Given the description of an element on the screen output the (x, y) to click on. 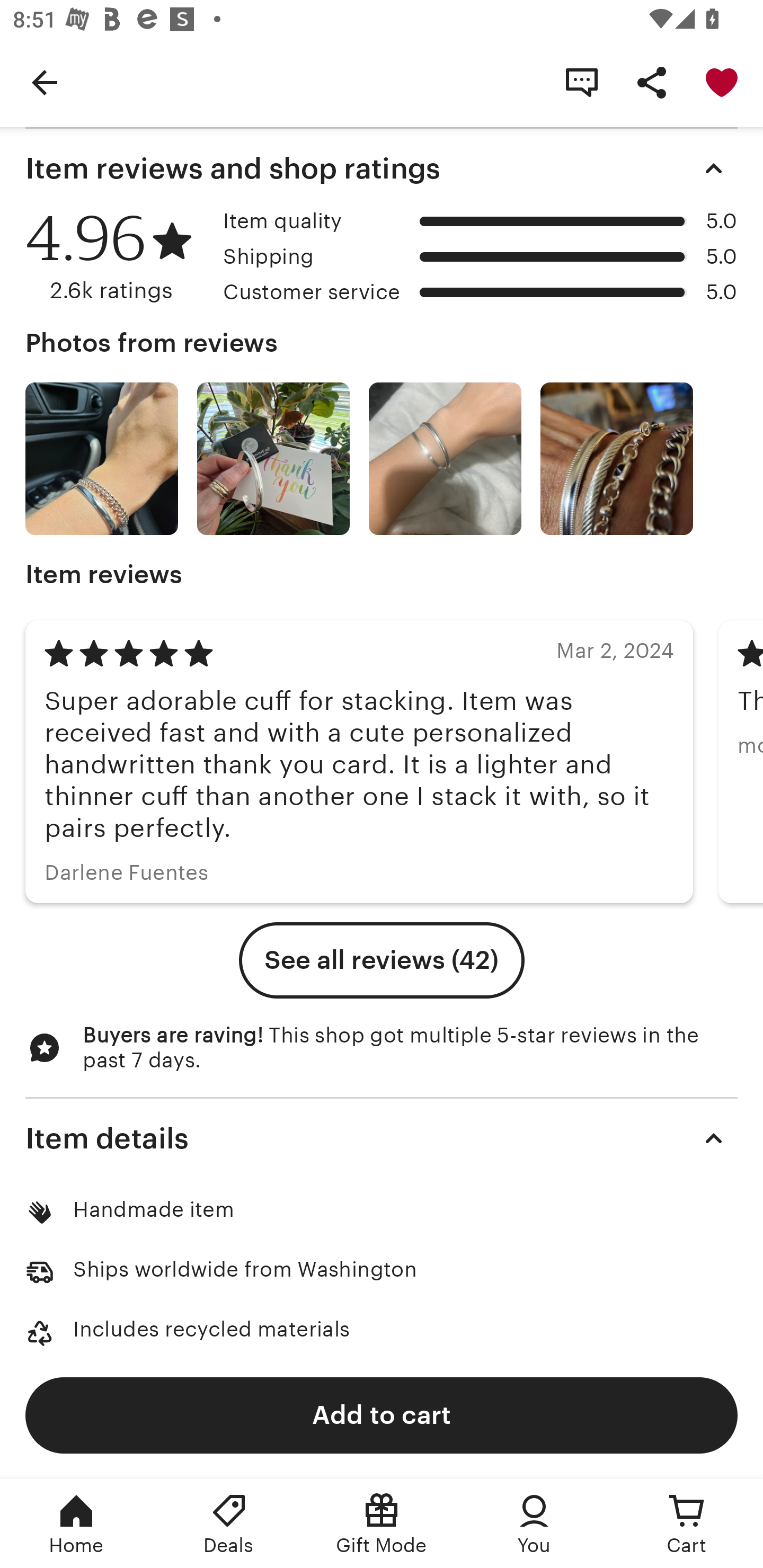
Navigate up (44, 81)
Contact shop (581, 81)
Share (651, 81)
Item reviews and shop ratings (381, 168)
4.96 2.6k ratings (117, 257)
Photo from review (101, 458)
Photo from review (272, 458)
Photo from review (444, 458)
Photo from review (616, 458)
See all reviews (42) (381, 959)
Item details (381, 1138)
Add to cart (381, 1414)
Deals (228, 1523)
Gift Mode (381, 1523)
You (533, 1523)
Cart (686, 1523)
